Given the description of an element on the screen output the (x, y) to click on. 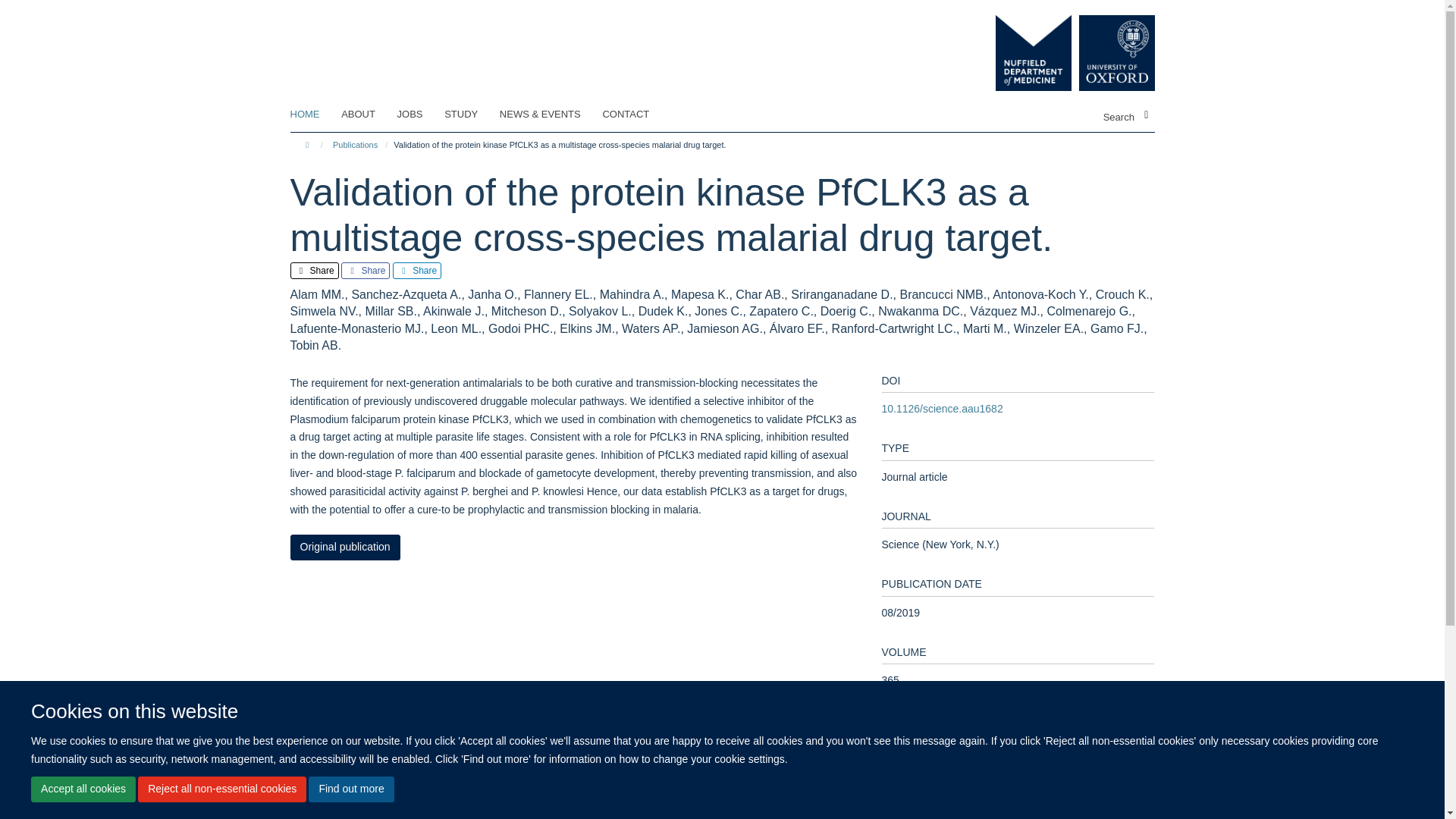
ABOUT (367, 114)
HOME (313, 114)
Find out more (350, 789)
Reject all non-essential cookies (221, 789)
Accept all cookies (82, 789)
